Given the description of an element on the screen output the (x, y) to click on. 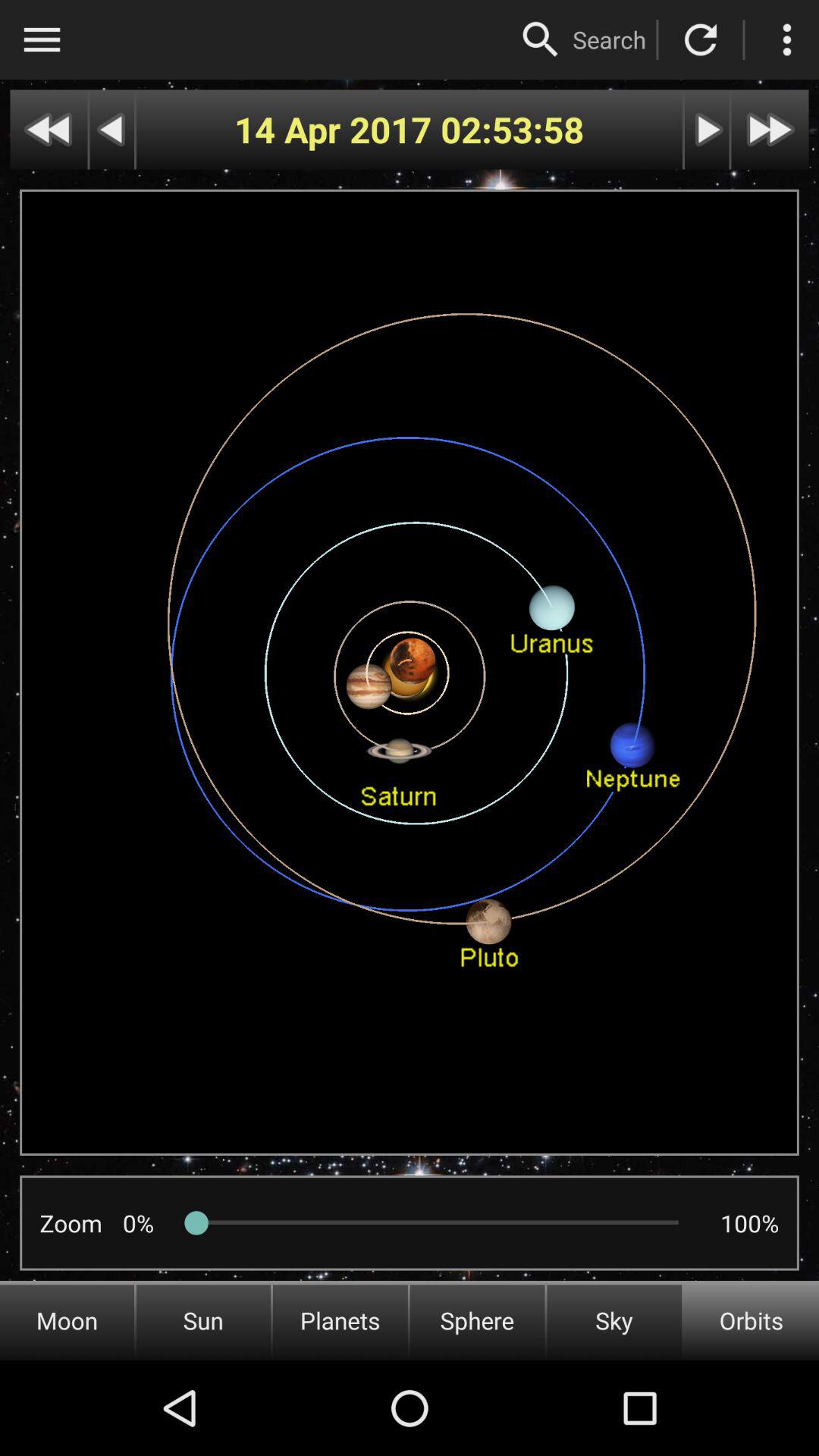
go back one year (48, 129)
